Given the description of an element on the screen output the (x, y) to click on. 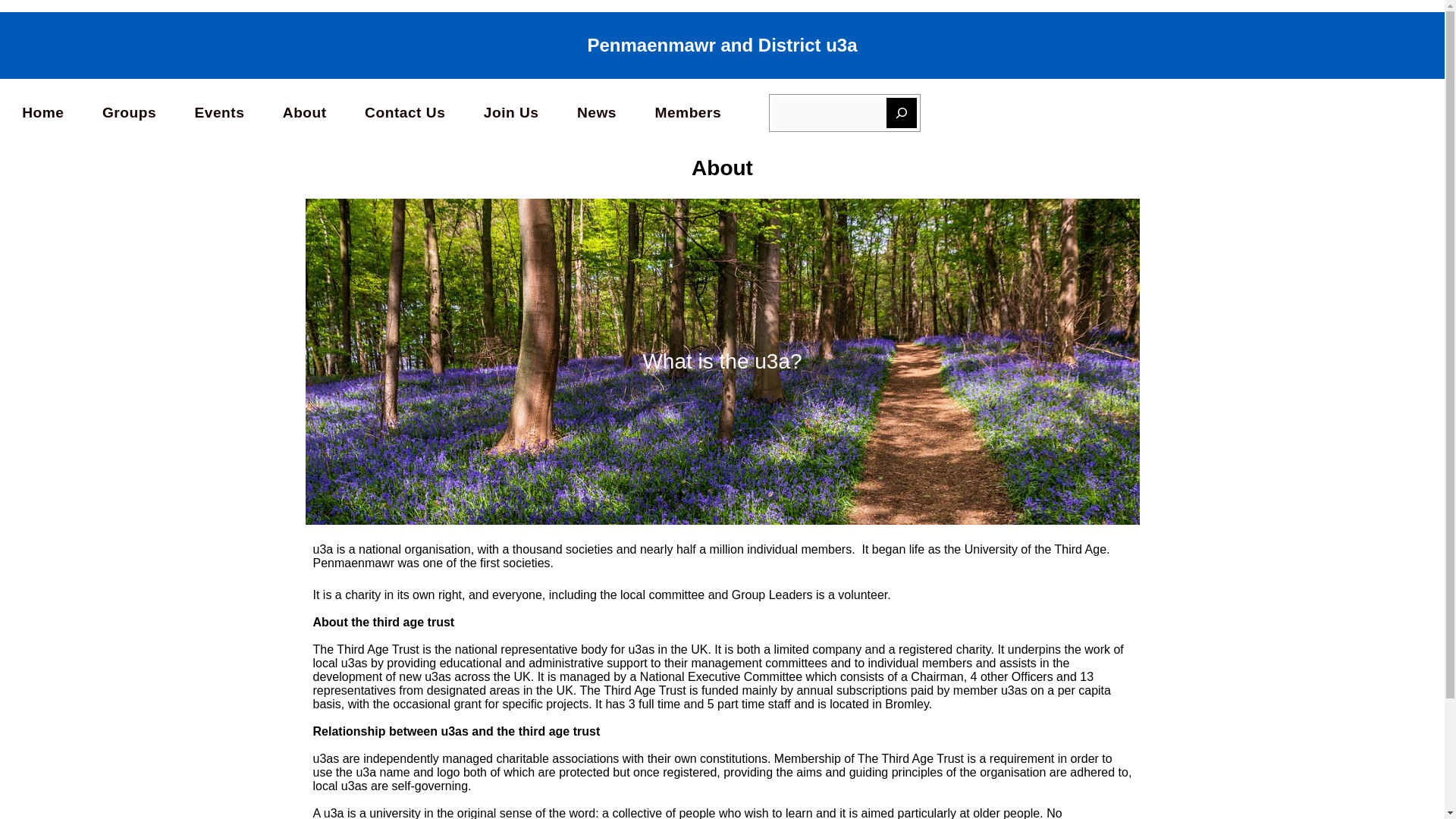
Members (687, 112)
News (596, 112)
Groups (129, 113)
Join Us (510, 112)
Events (219, 112)
About (303, 112)
Contact Us (405, 112)
Home (42, 112)
